Given the description of an element on the screen output the (x, y) to click on. 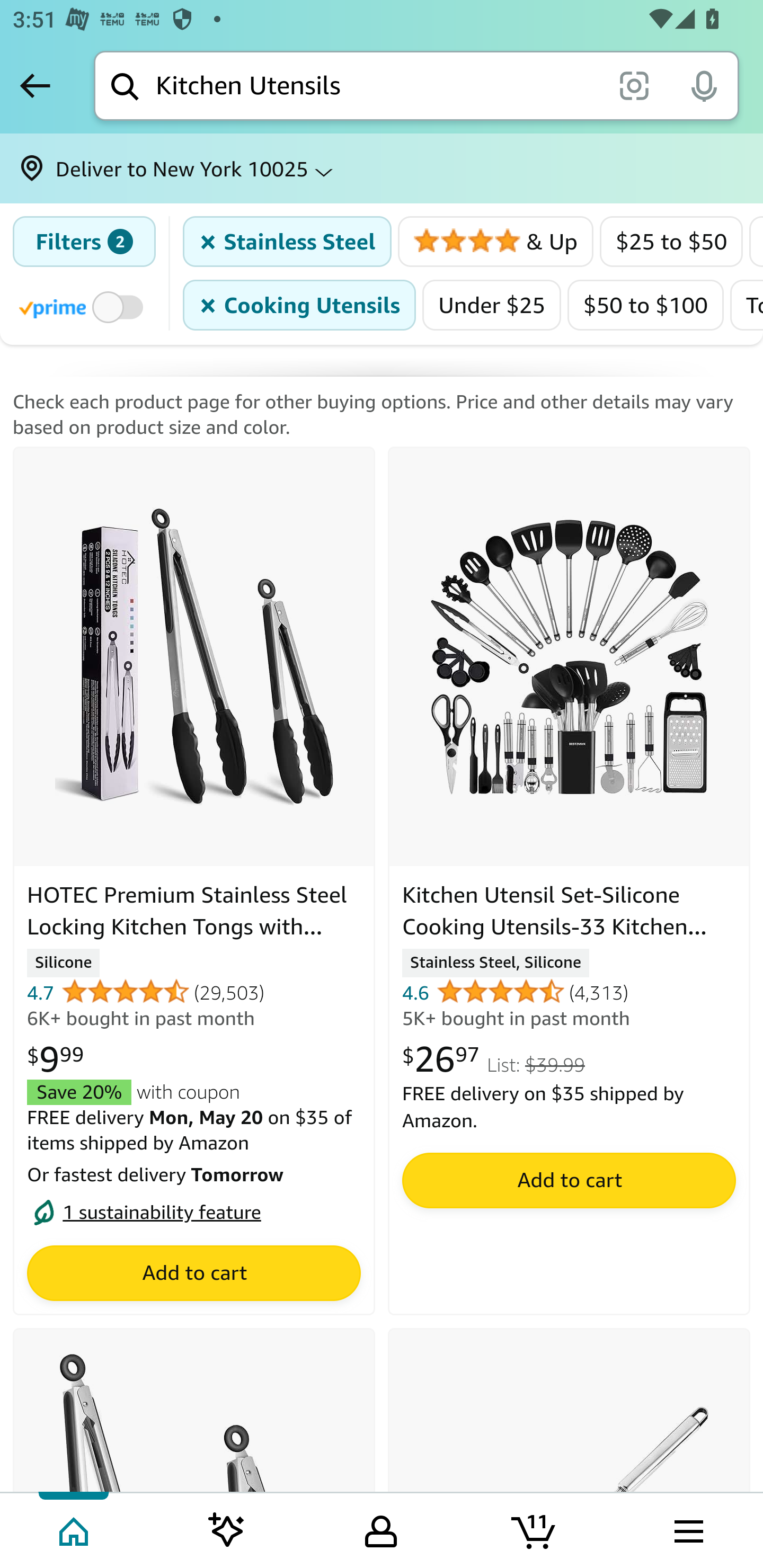
Back (35, 85)
scan it (633, 85)
Deliver to New York 10025 ⌵ (381, 168)
Filters 2 (83, 241)
× Stainless Steel × Stainless Steel (287, 241)
4 Stars & Up (495, 241)
$25 to $50 (670, 241)
Toggle to filter by Prime products Prime Eligible (83, 306)
× Cooking Utensils × Cooking Utensils (299, 304)
Under $25 (492, 304)
$50 to $100 (645, 304)
Add to cart (568, 1180)
